Given the description of an element on the screen output the (x, y) to click on. 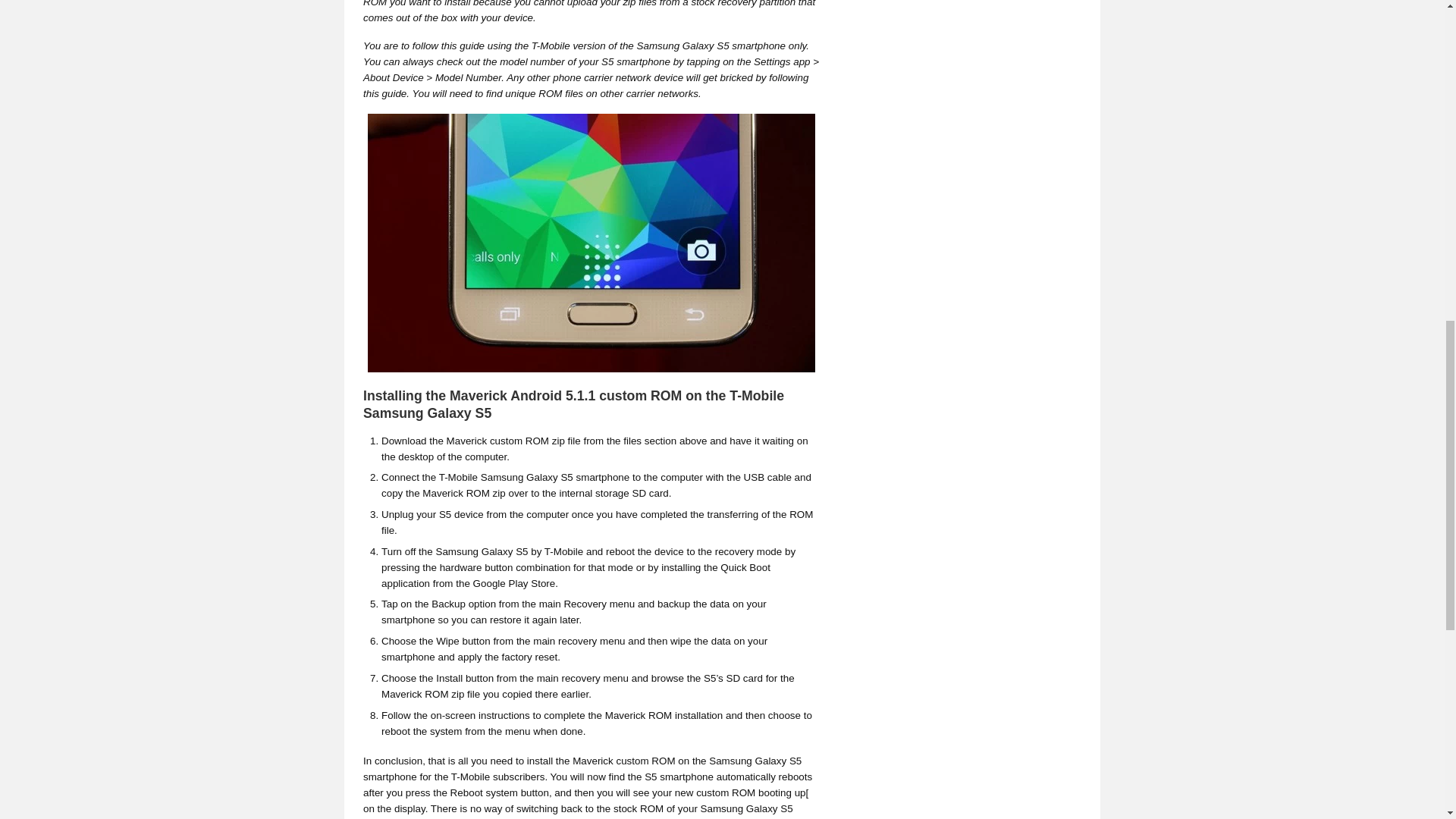
Advertisement (898, 644)
